Given the description of an element on the screen output the (x, y) to click on. 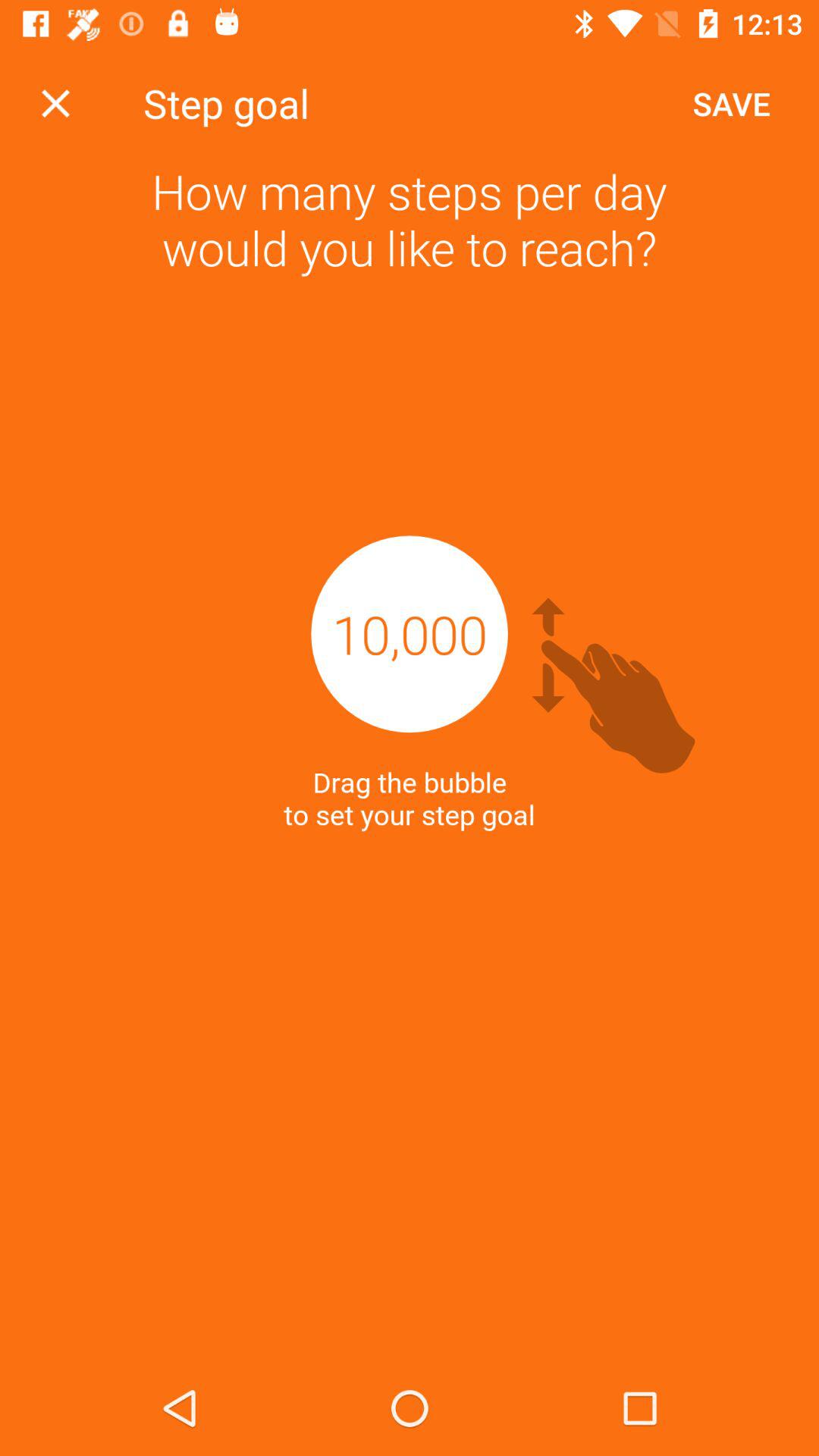
turn off icon next to the step goal icon (55, 103)
